Given the description of an element on the screen output the (x, y) to click on. 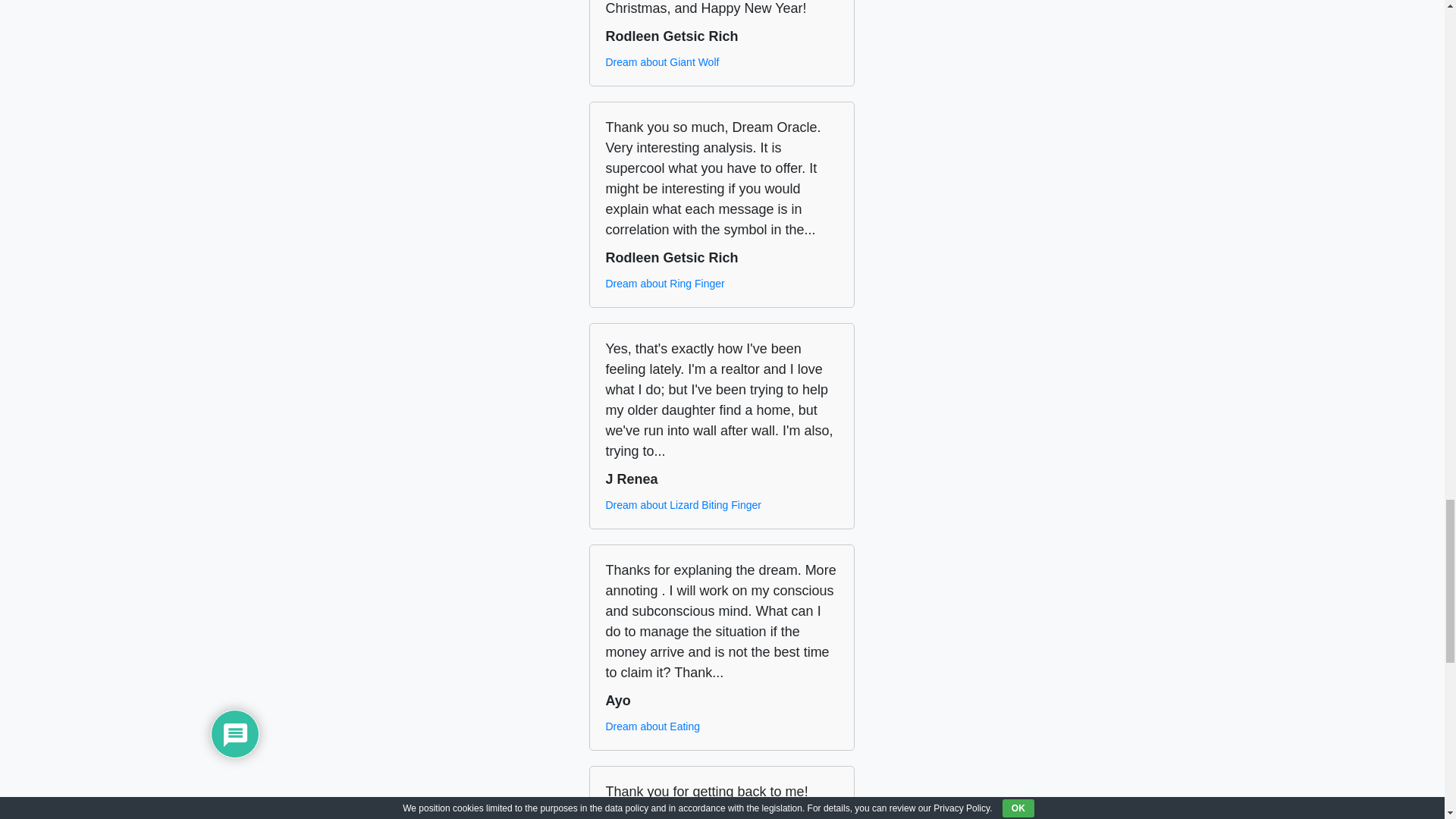
Dream about Lizard Biting Finger (682, 505)
Dream about Eating (652, 726)
Dream about Giant Wolf (662, 62)
Dream about Ring Finger (664, 283)
